Given the description of an element on the screen output the (x, y) to click on. 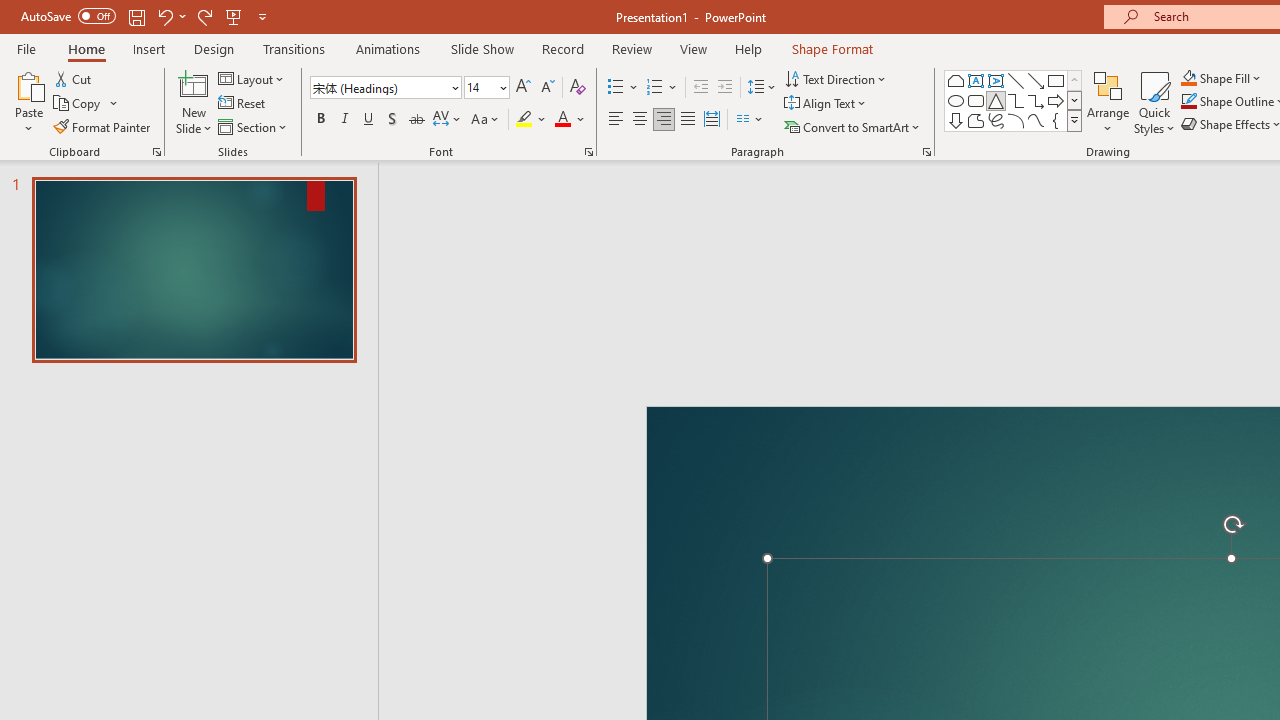
Shape Fill Orange, Accent 2 (1188, 78)
